Given the description of an element on the screen output the (x, y) to click on. 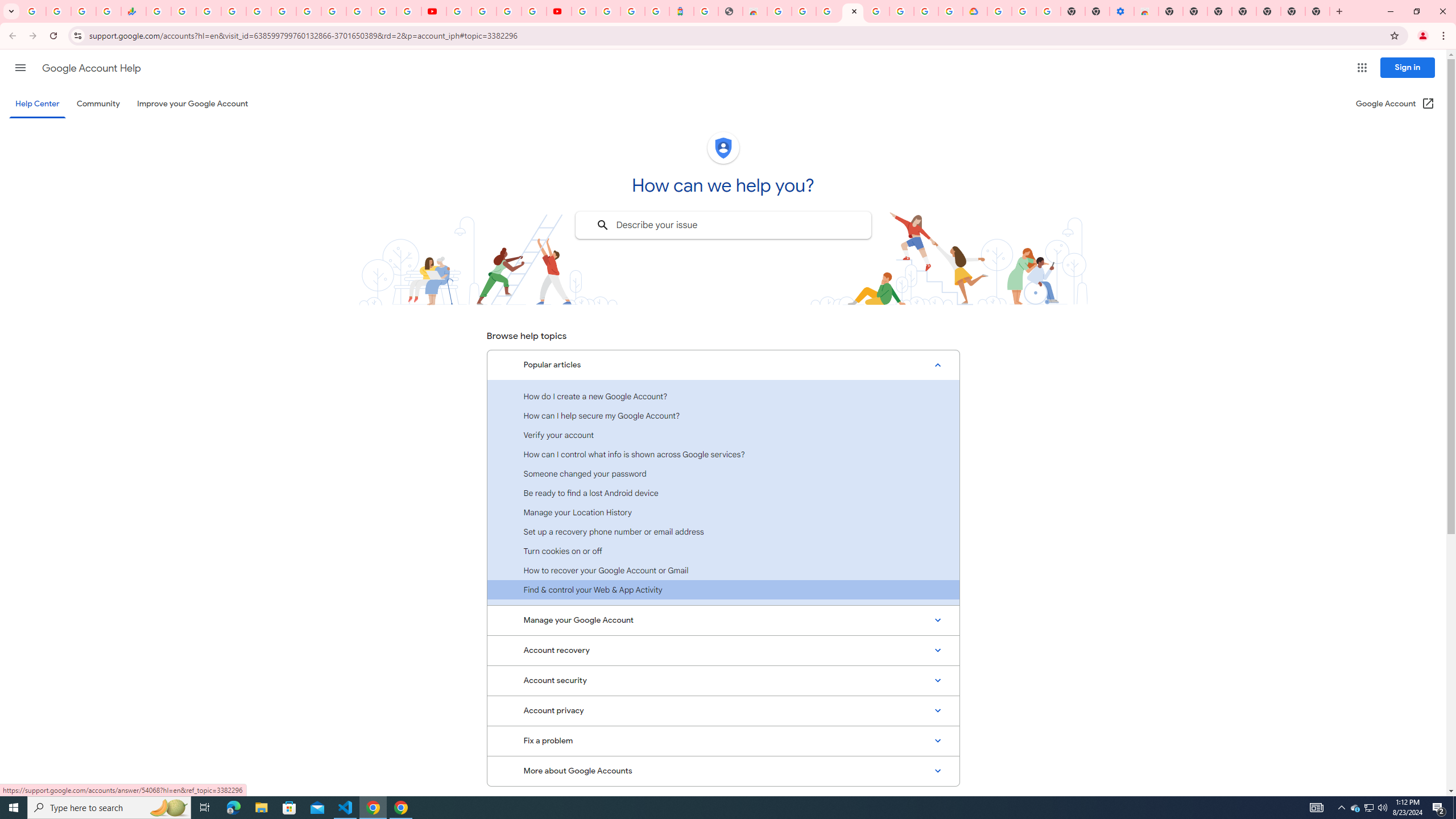
Find & control your Web & App Activity (722, 589)
Chrome Web Store - Accessibility extensions (1145, 11)
Verify your account (722, 434)
Turn cookies on or off - Computer - Google Account Help (1047, 11)
New Tab (1317, 11)
New Tab (1170, 11)
Sign in - Google Accounts (999, 11)
Manage your Location History (722, 512)
Fix a problem (722, 740)
